Given the description of an element on the screen output the (x, y) to click on. 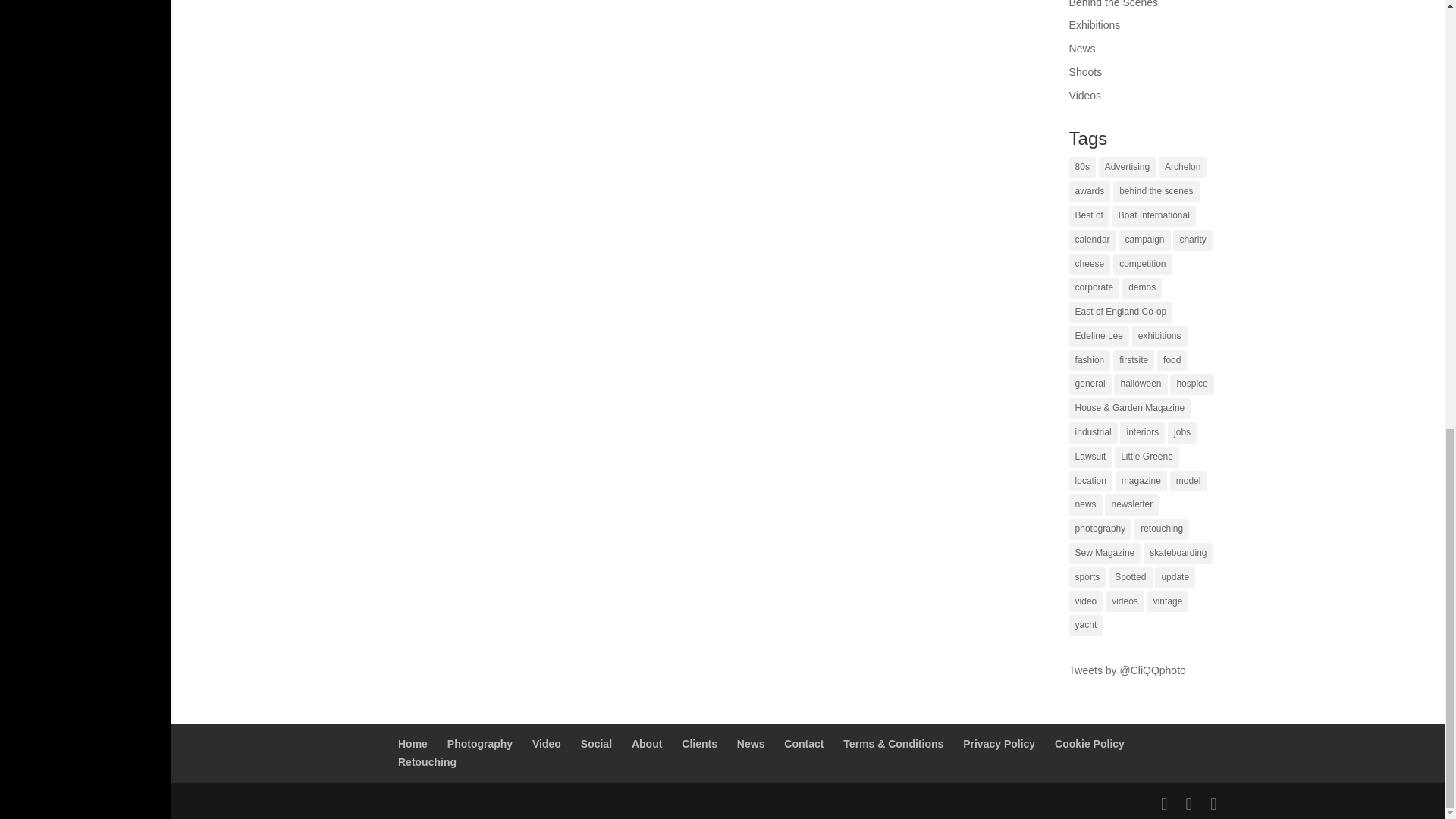
Video (546, 743)
